Given the description of an element on the screen output the (x, y) to click on. 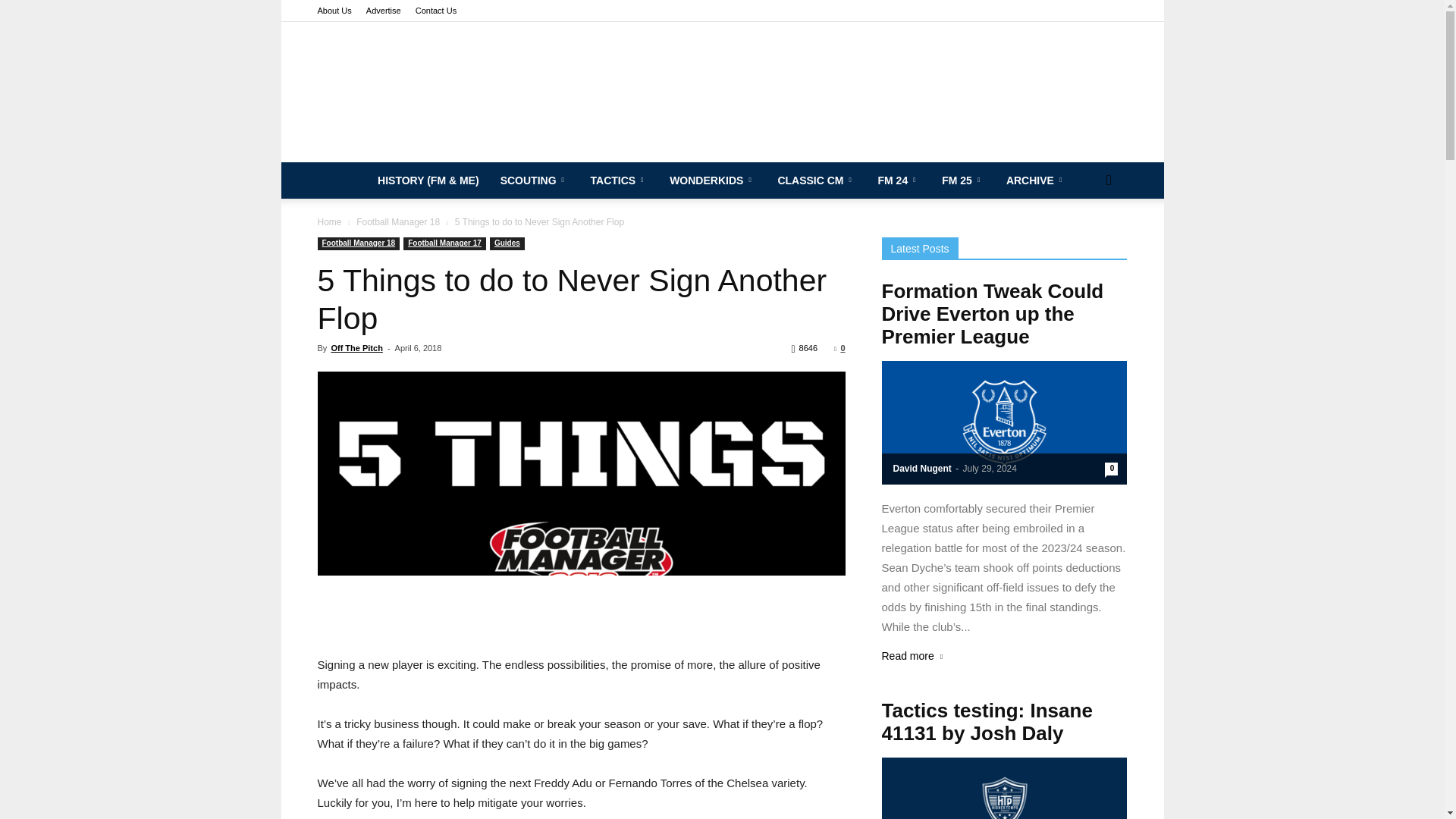
Advertise (383, 10)
About Us (333, 10)
SCOUTING (534, 180)
The Higher Tempo Press (722, 92)
Contact Us (435, 10)
The Higher Tempo Press (721, 92)
